Given the description of an element on the screen output the (x, y) to click on. 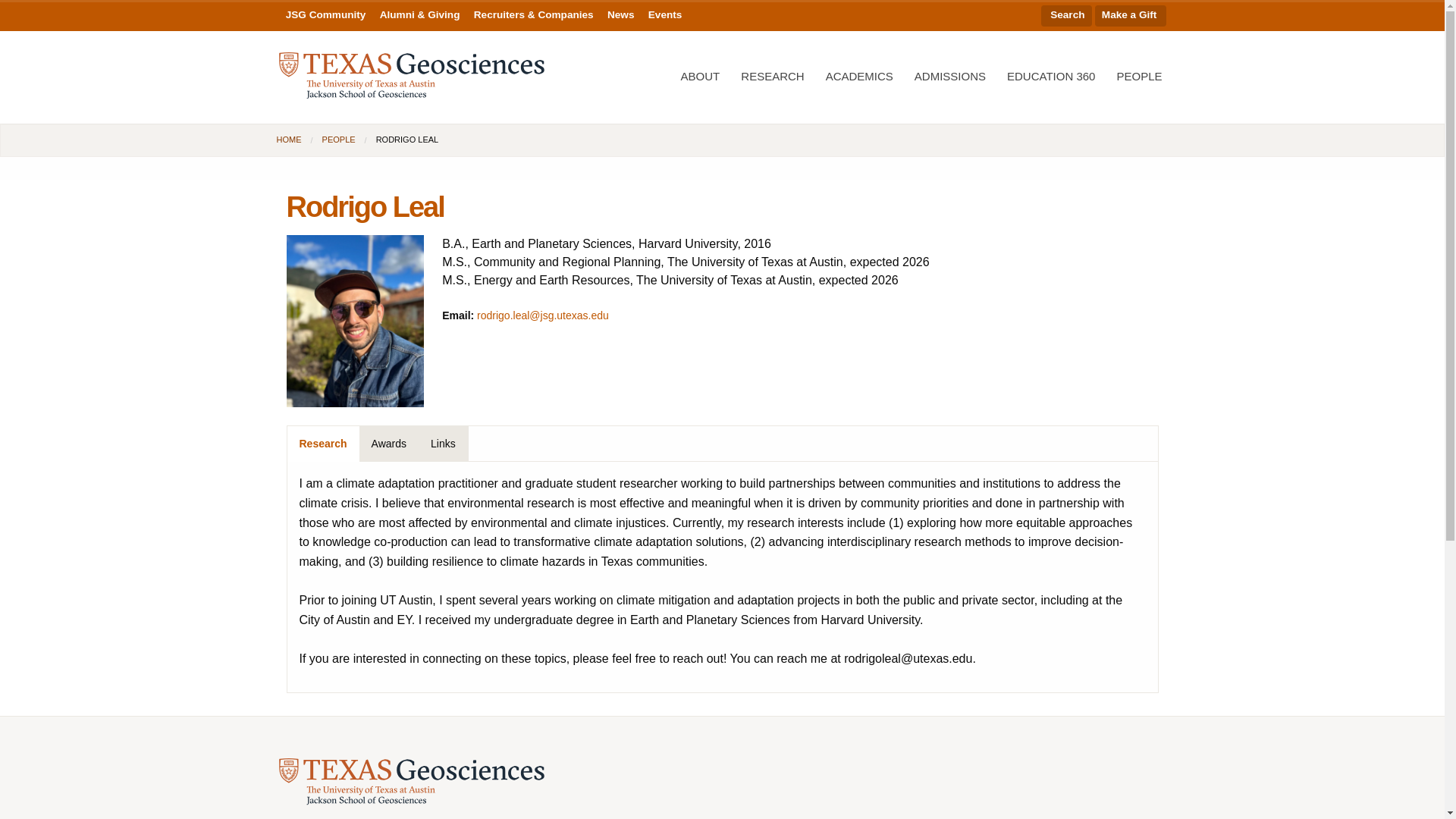
Jackson School of Geosciences (411, 75)
Jackson School of Geosciences (411, 781)
